Given the description of an element on the screen output the (x, y) to click on. 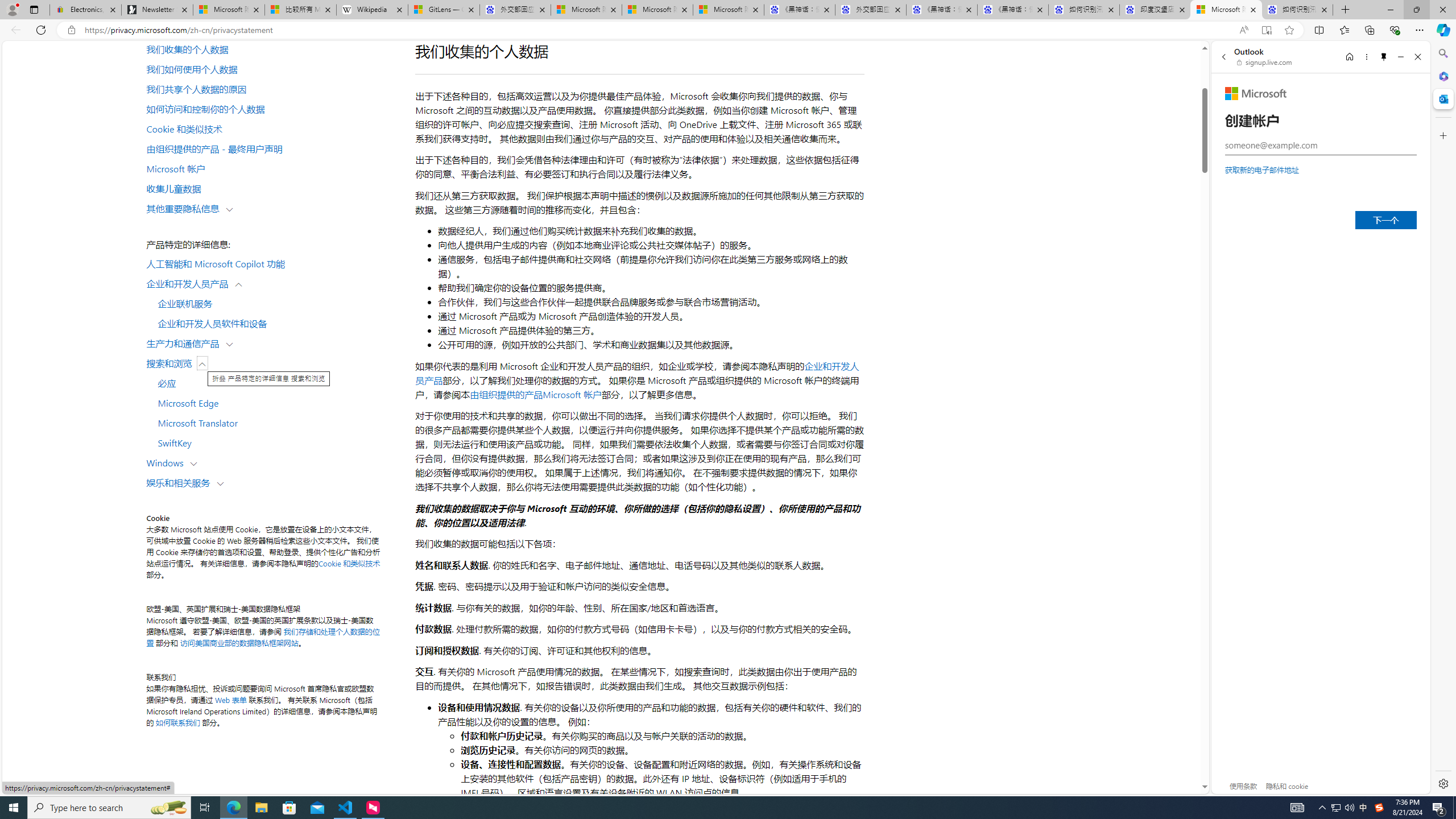
SwiftKey (274, 441)
